Given the description of an element on the screen output the (x, y) to click on. 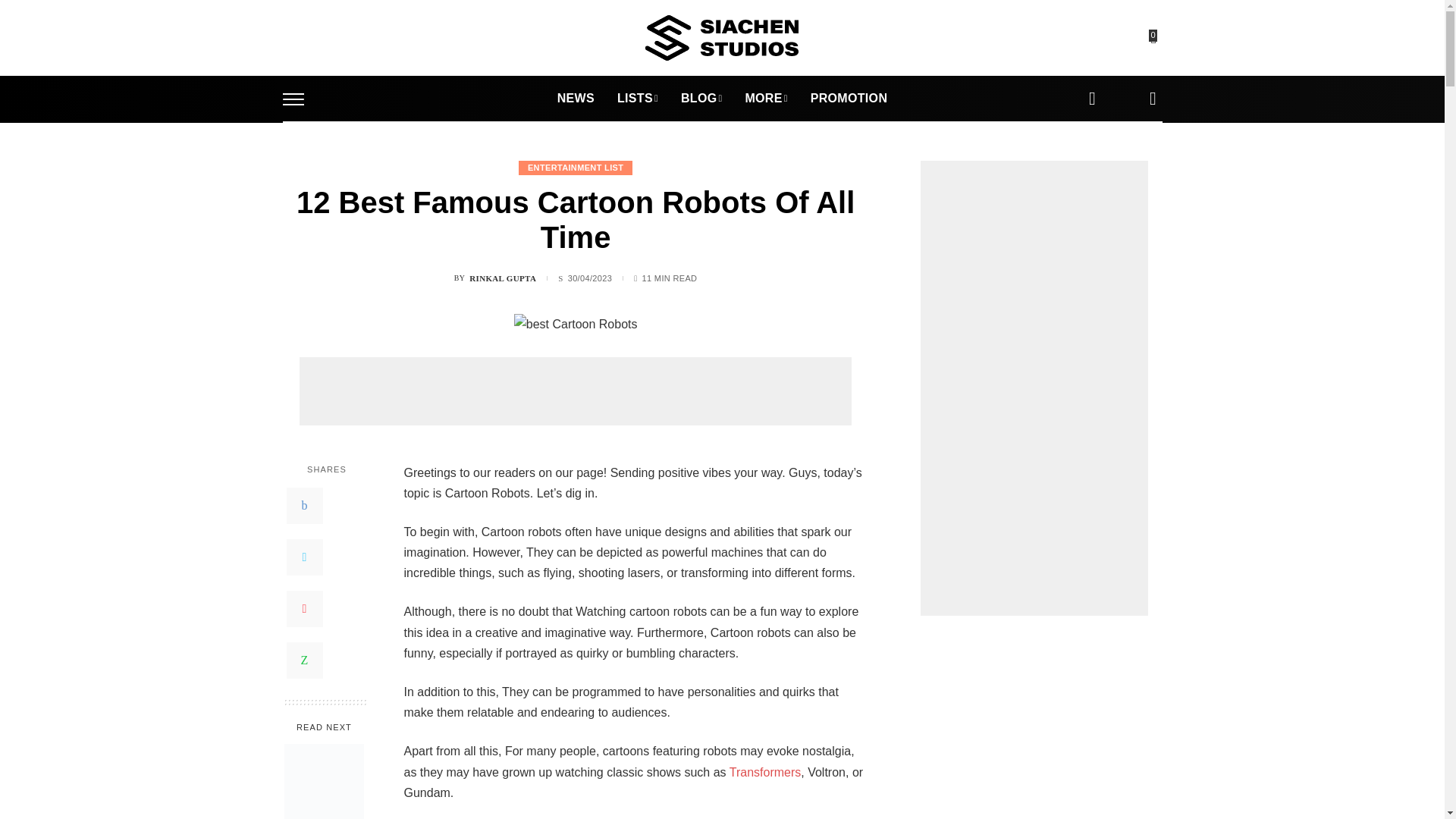
LISTS (637, 98)
NEWS (575, 98)
Siachen Studios (721, 37)
